Given the description of an element on the screen output the (x, y) to click on. 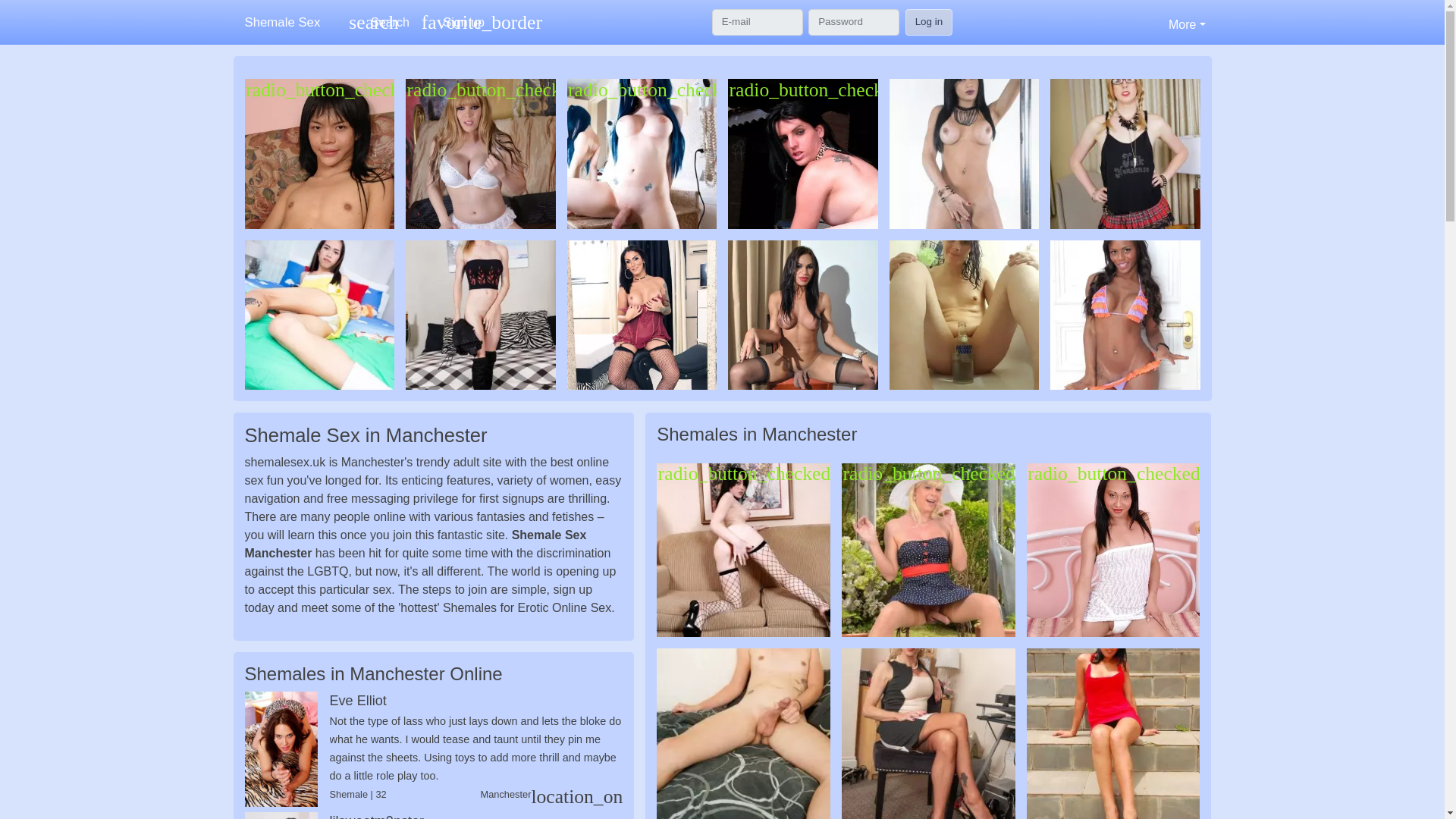
Shemale Sex (287, 21)
Log in (378, 22)
More (929, 22)
